Given the description of an element on the screen output the (x, y) to click on. 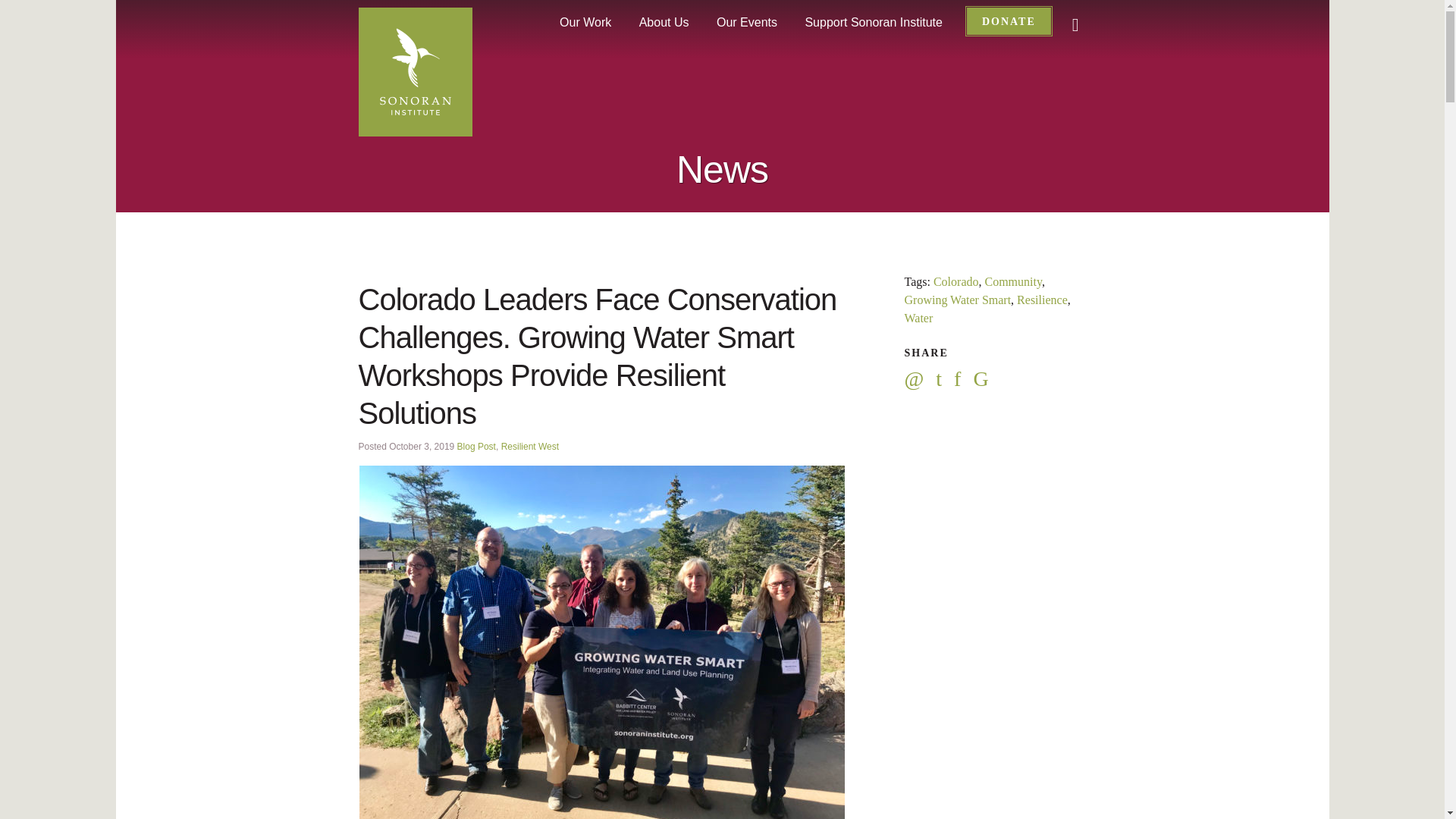
Share via Facebook (962, 381)
About Us (664, 22)
Support Sonoran Institute (872, 22)
Resilience (1041, 299)
Resilient West (529, 446)
Colorado (955, 281)
Our Events (746, 22)
Share via Email (920, 381)
Our Work (585, 22)
Growing Water Smart (957, 299)
DONATE (1008, 21)
Share via Twitter (944, 381)
Blog Post (476, 446)
Community (1012, 281)
Water (918, 318)
